Given the description of an element on the screen output the (x, y) to click on. 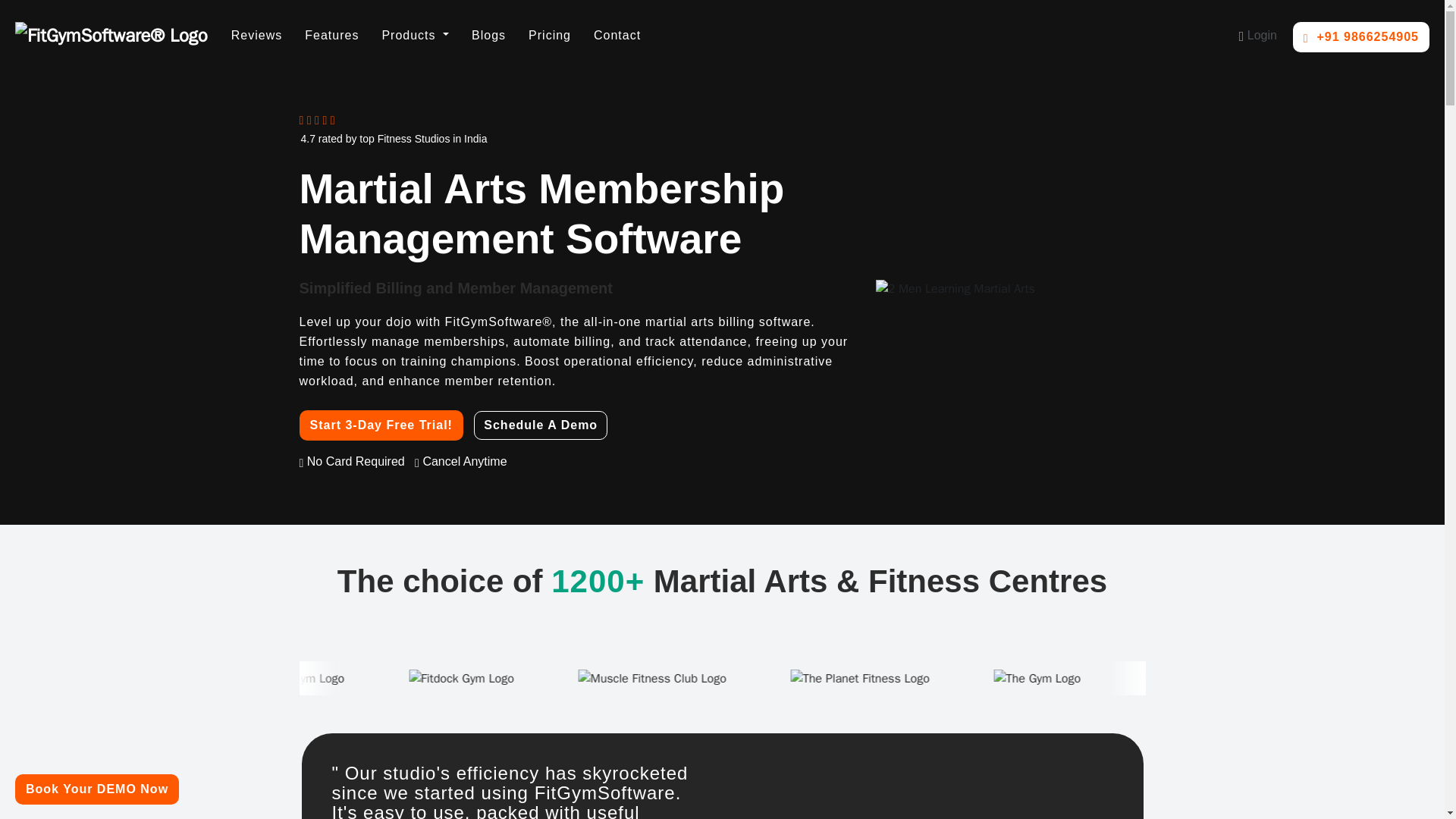
Schedule A Demo (540, 425)
Reviews (256, 35)
Contact us (617, 35)
Reviews (256, 35)
Blogs (488, 35)
Pricing (549, 35)
FitGymSoftware (111, 35)
Pricing (549, 35)
All Products (414, 35)
Products (414, 35)
Book Your DEMO Now (96, 788)
Features (435, 35)
Contact (331, 35)
Login (617, 35)
